Given the description of an element on the screen output the (x, y) to click on. 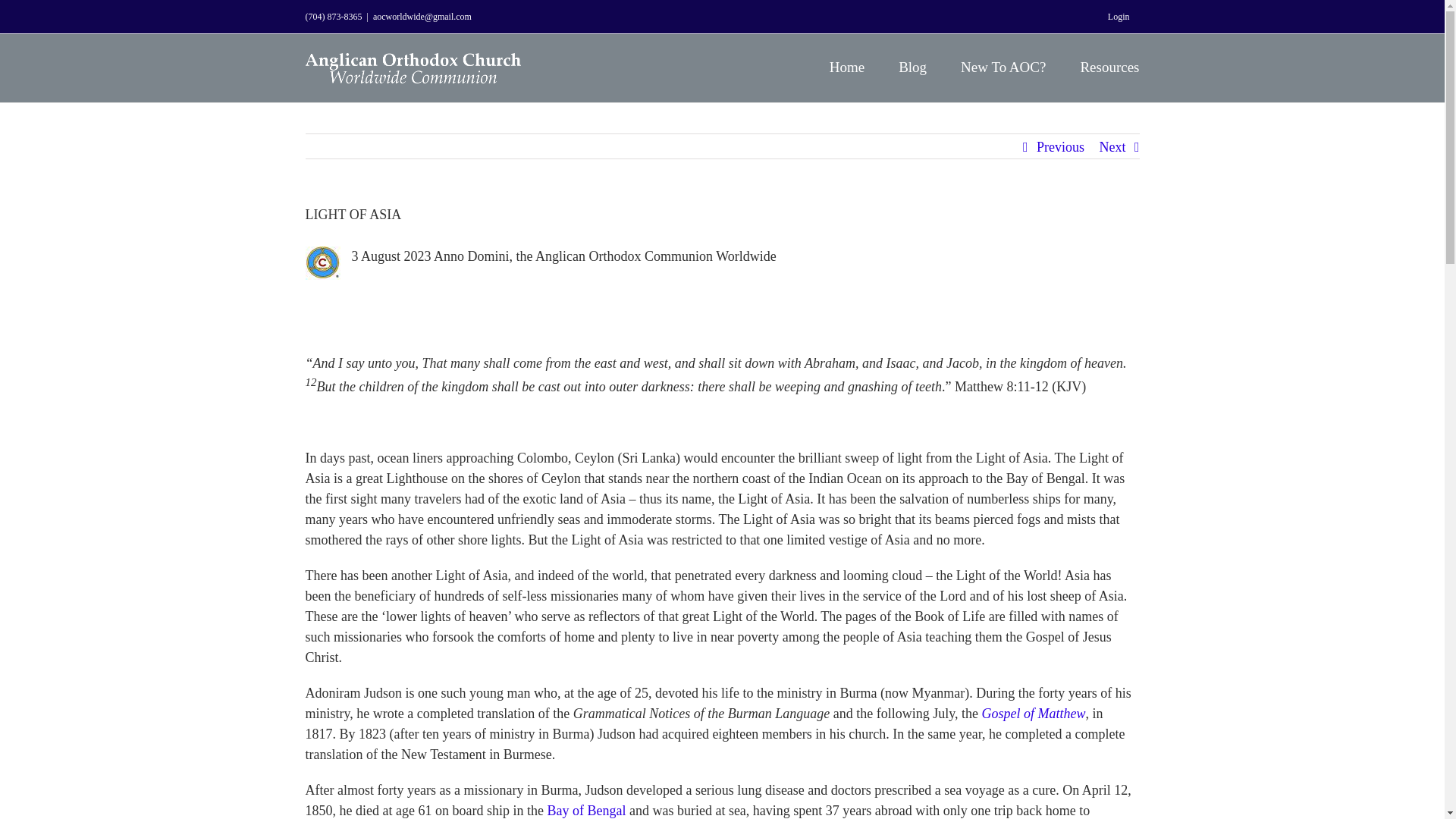
Resources (1109, 65)
New To AOC? (1002, 65)
Previous (1060, 146)
Next (1112, 146)
Login (1118, 16)
